Given the description of an element on the screen output the (x, y) to click on. 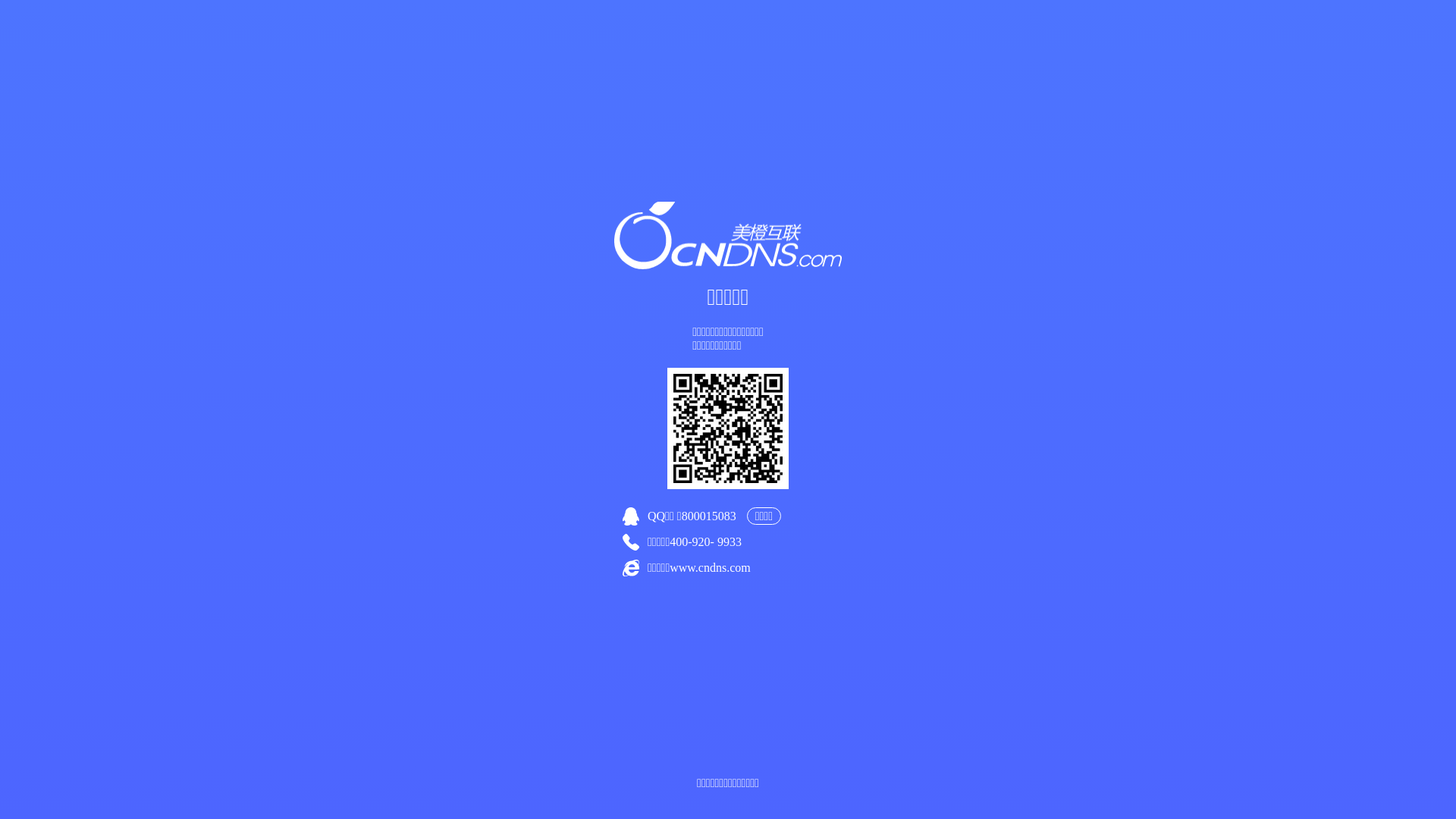
www.cndns.com Element type: text (709, 567)
